Given the description of an element on the screen output the (x, y) to click on. 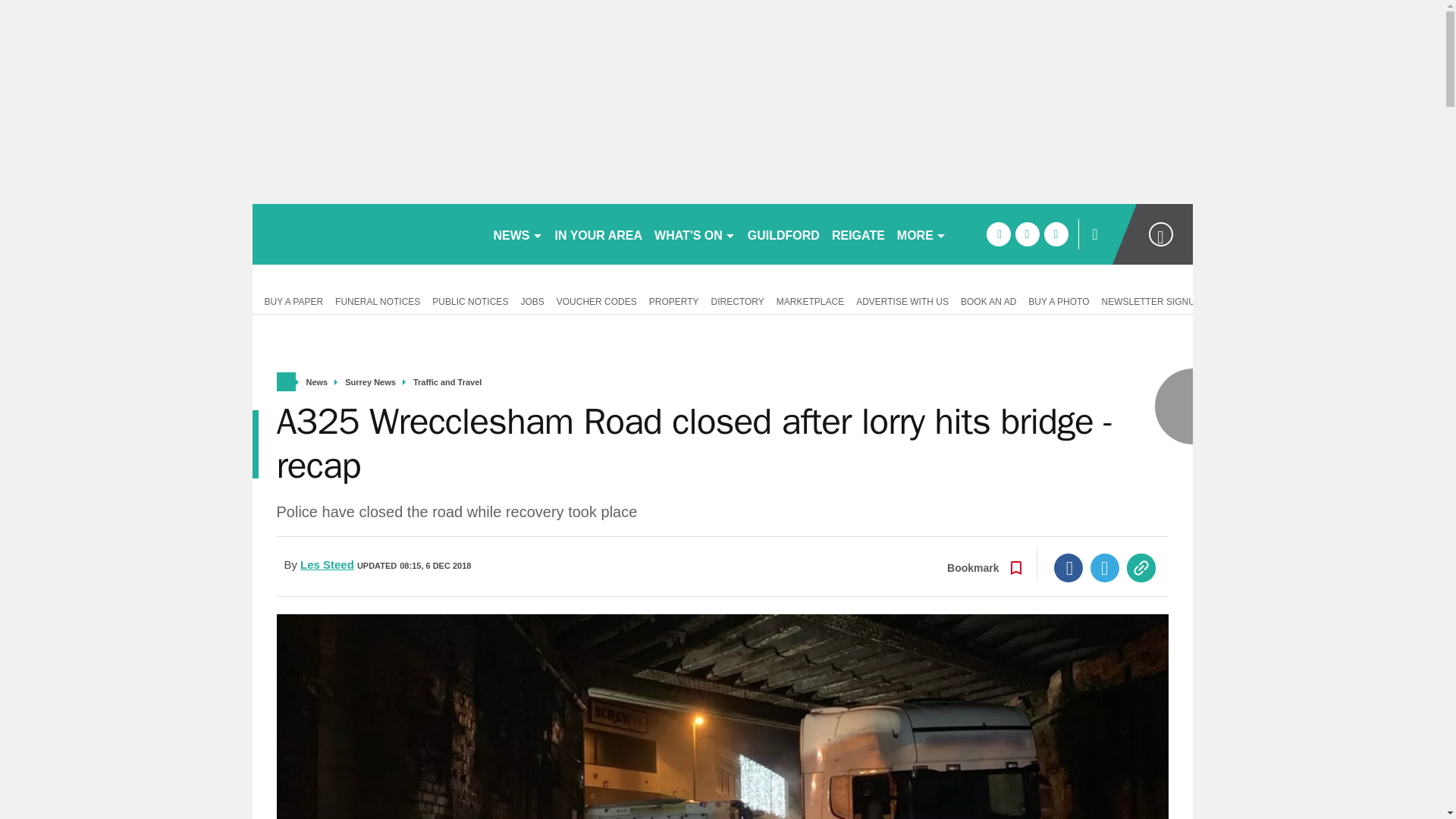
FUNERAL NOTICES (377, 300)
VOUCHER CODES (596, 300)
WHAT'S ON (694, 233)
Facebook (1068, 567)
instagram (1055, 233)
PUBLIC NOTICES (469, 300)
REIGATE (858, 233)
facebook (997, 233)
BUY A PAPER (290, 300)
JOBS (531, 300)
